Given the description of an element on the screen output the (x, y) to click on. 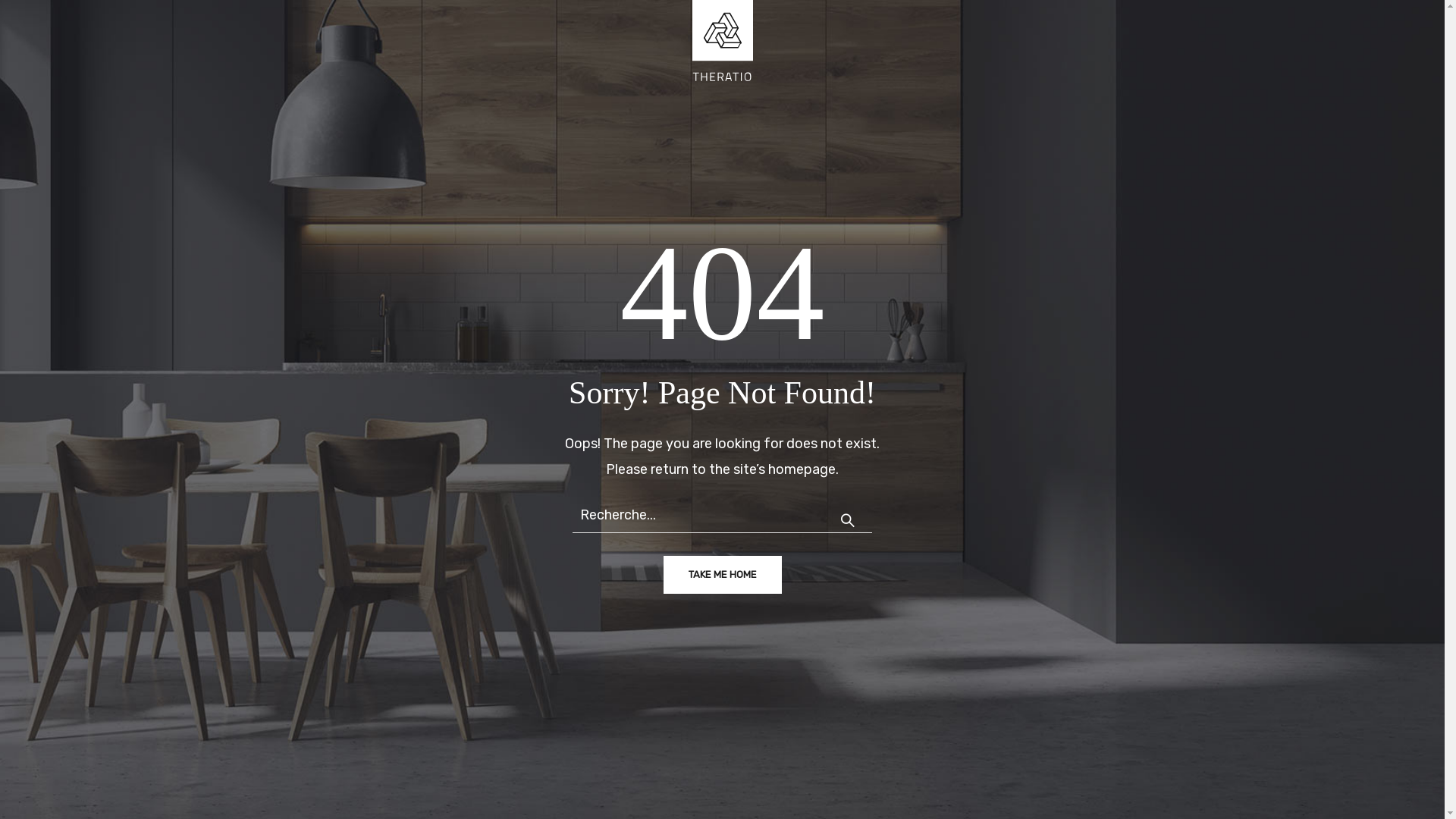
TAKE ME HOME Element type: text (721, 574)
